Given the description of an element on the screen output the (x, y) to click on. 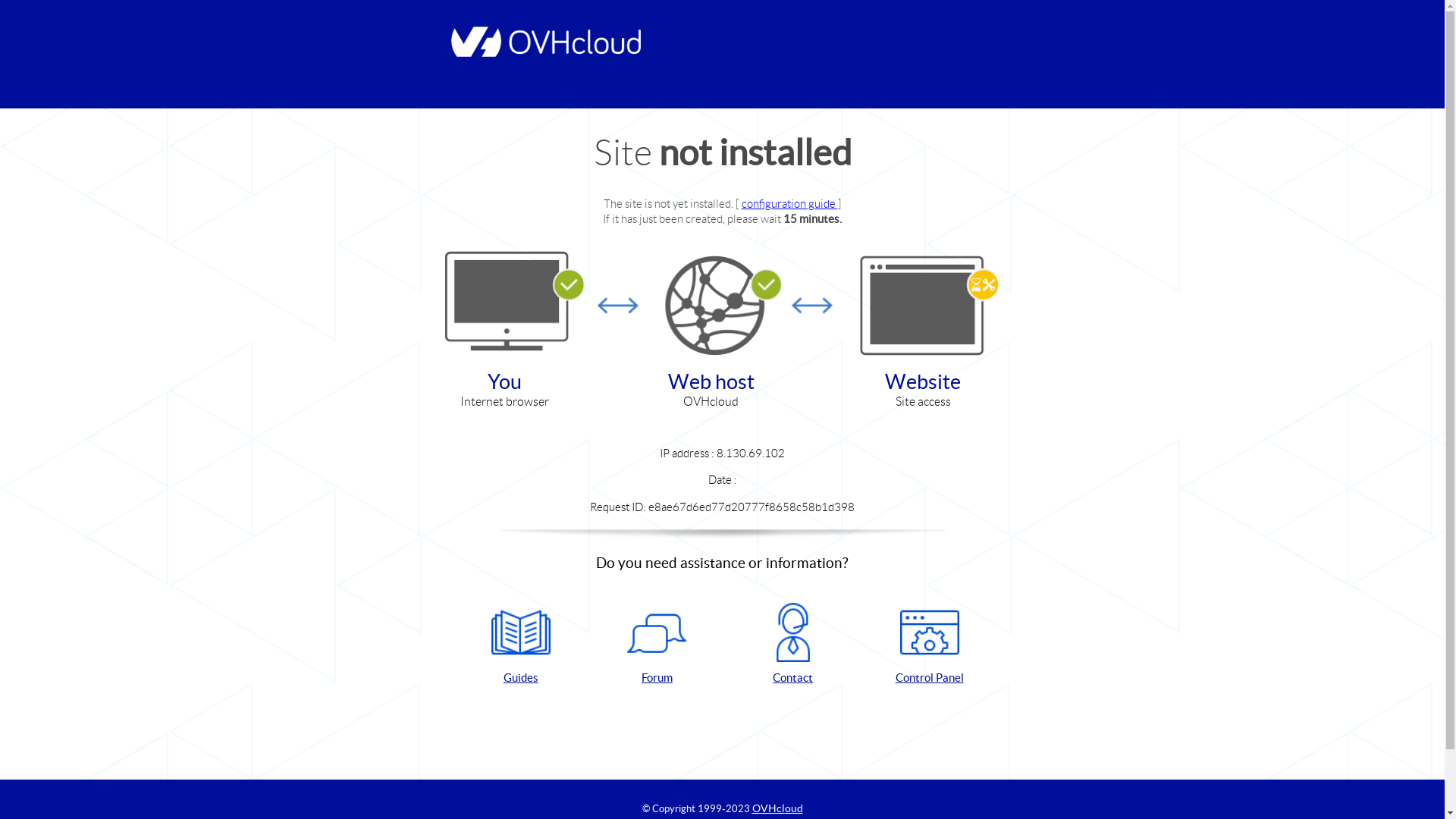
Guides Element type: text (520, 644)
Forum Element type: text (656, 644)
Control Panel Element type: text (929, 644)
OVHcloud Element type: text (777, 808)
configuration guide Element type: text (789, 203)
Contact Element type: text (792, 644)
